Given the description of an element on the screen output the (x, y) to click on. 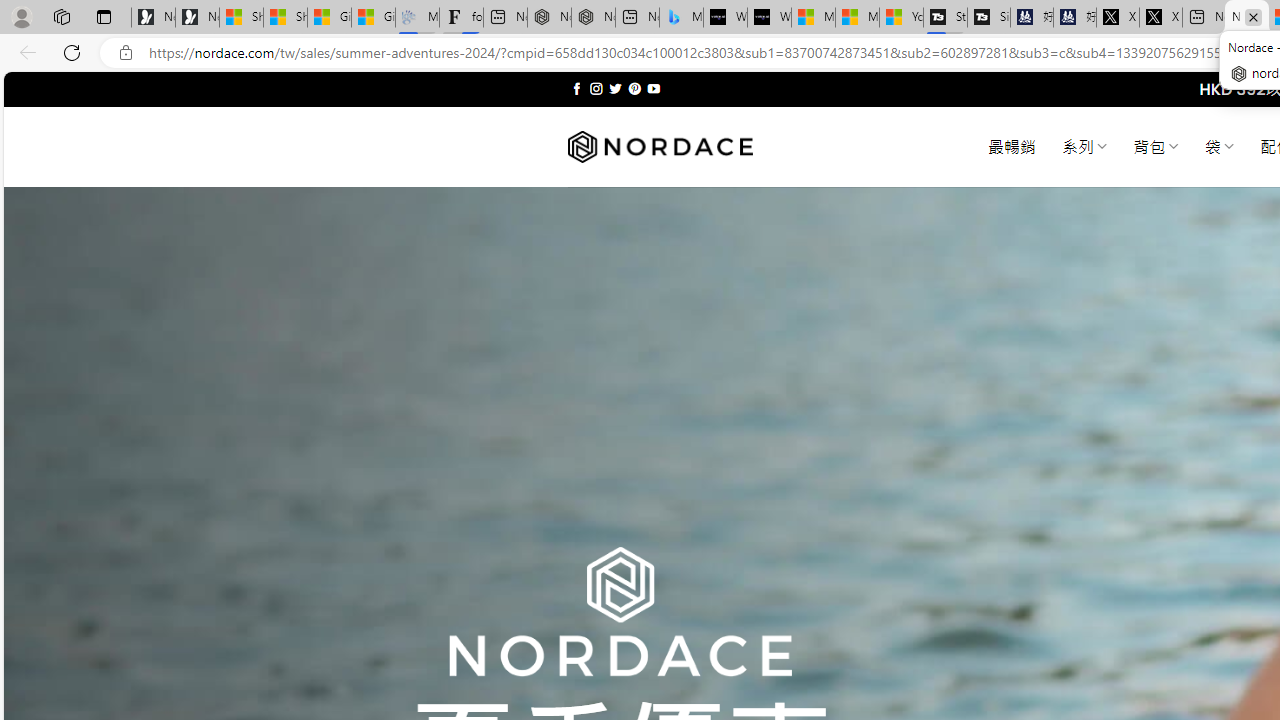
Streaming Coverage | T3 (945, 17)
Follow on Facebook (576, 88)
Microsoft Bing Travel - Shangri-La Hotel Bangkok (681, 17)
Gilma and Hector both pose tropical trouble for Hawaii (373, 17)
